Given the description of an element on the screen output the (x, y) to click on. 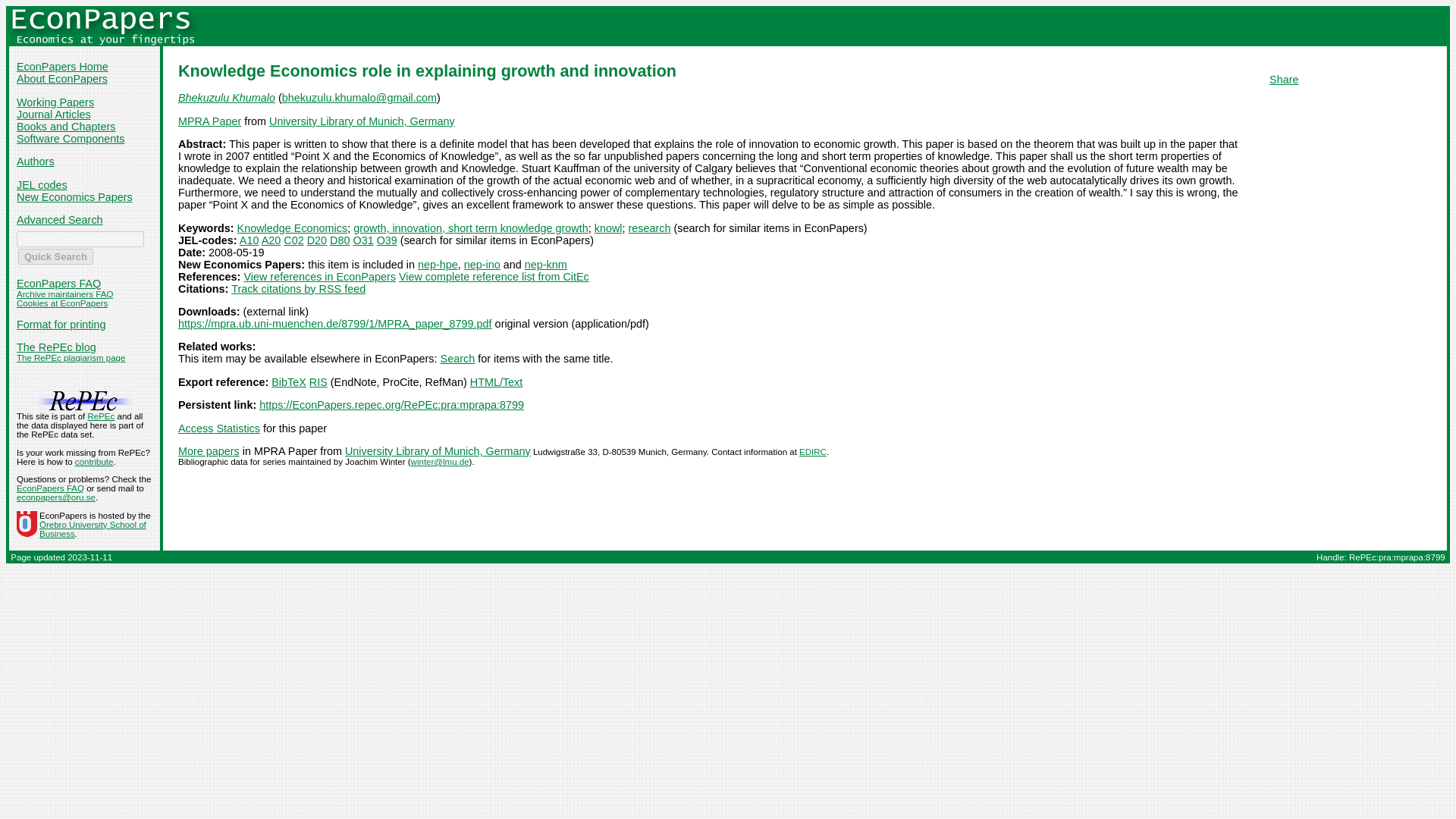
Knowledge Economics (292, 227)
Cookies at EconPapers (61, 302)
A20 (271, 240)
Bhekuzulu Khumalo (226, 97)
MPRA Paper (209, 121)
Authors (35, 161)
nep-knm (545, 264)
Working Papers (55, 102)
View complete reference list from CitEc (493, 276)
Format for printing (61, 324)
